Given the description of an element on the screen output the (x, y) to click on. 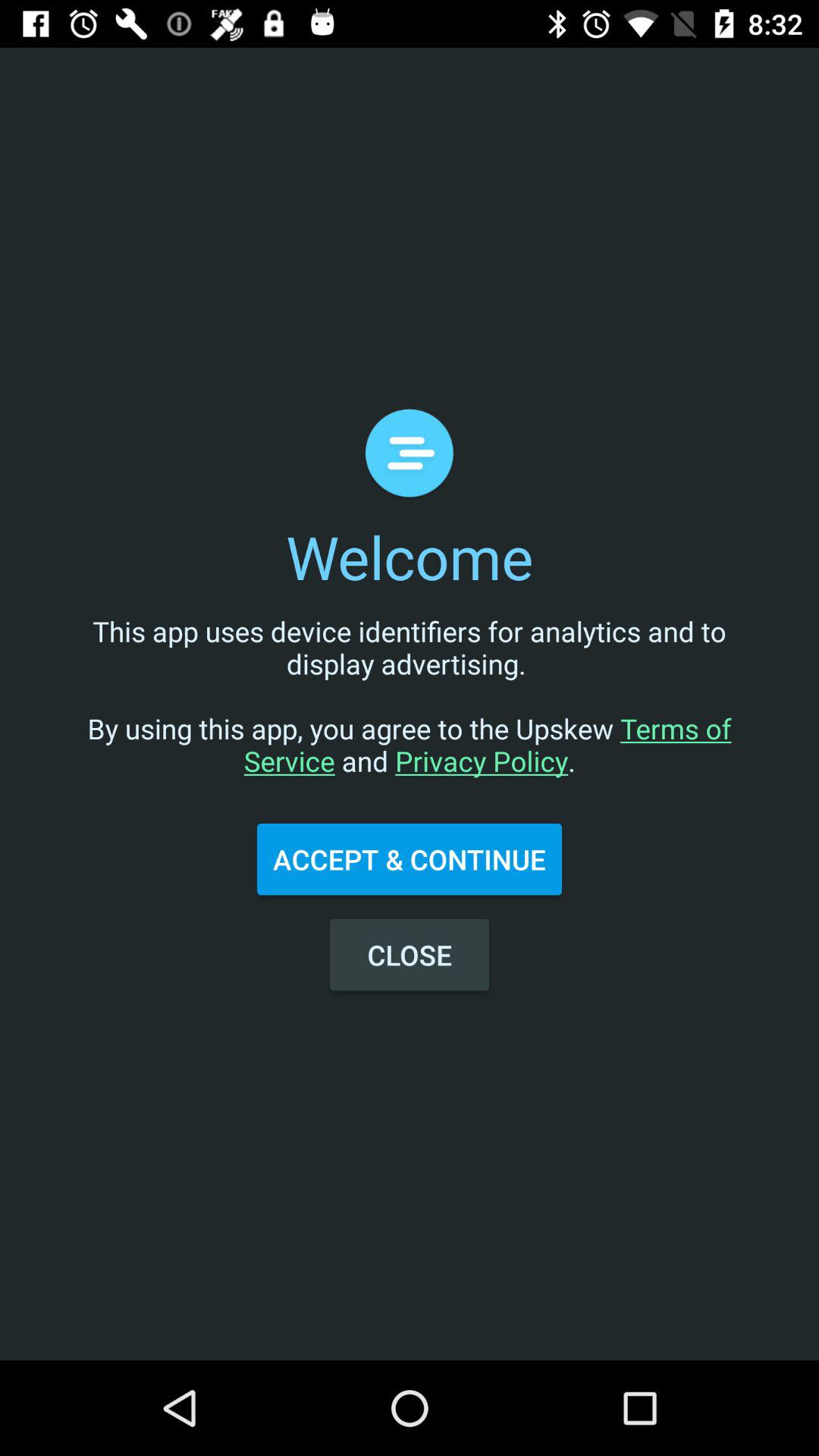
open item above the close (409, 859)
